Given the description of an element on the screen output the (x, y) to click on. 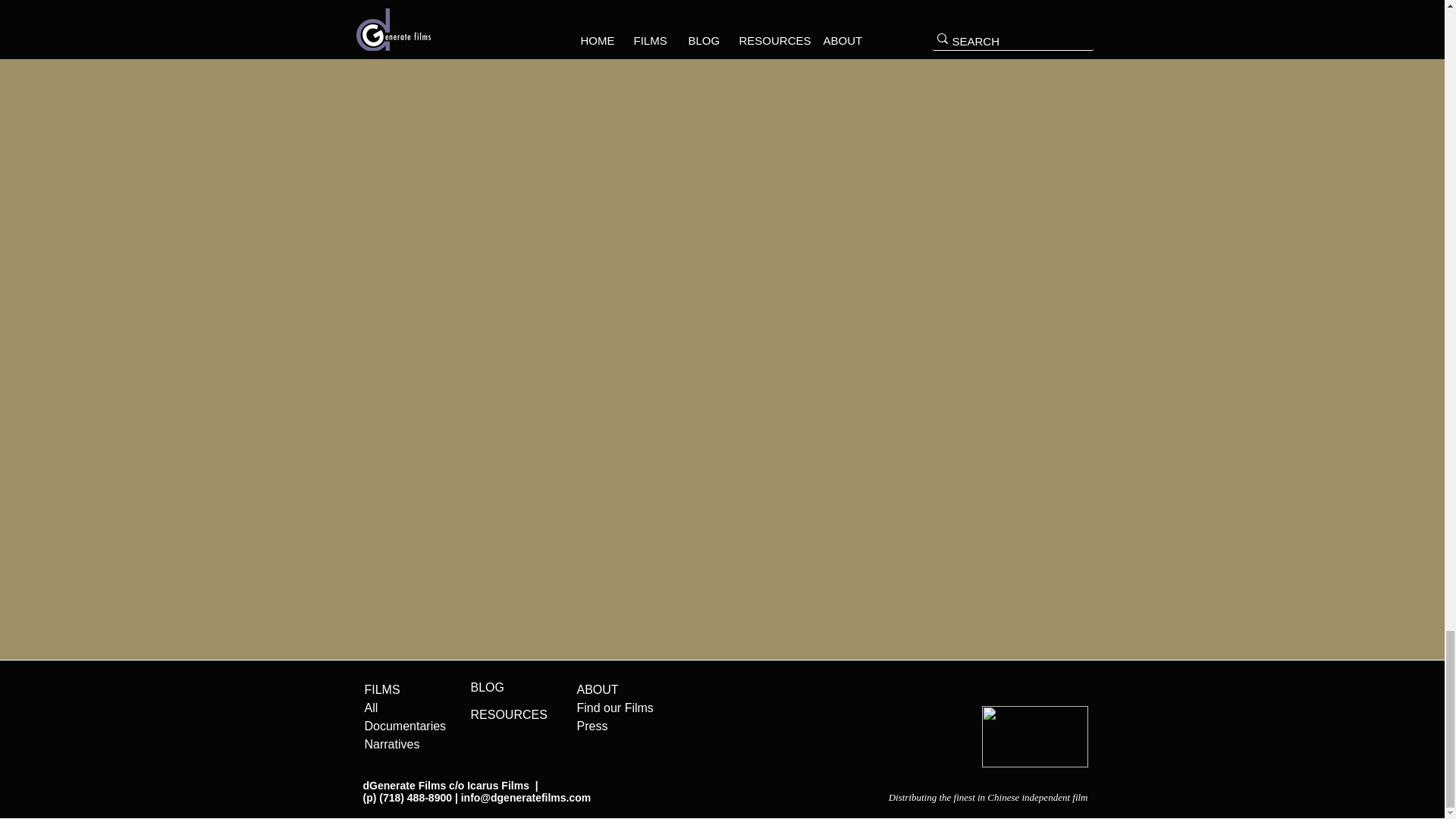
dGF Logo-white.png (1034, 736)
Press (591, 725)
RESOURCES (508, 714)
All (370, 707)
Narratives (391, 744)
ABOUT (596, 689)
Find our Films (614, 707)
BLOG (486, 686)
Documentaries (404, 725)
